Given the description of an element on the screen output the (x, y) to click on. 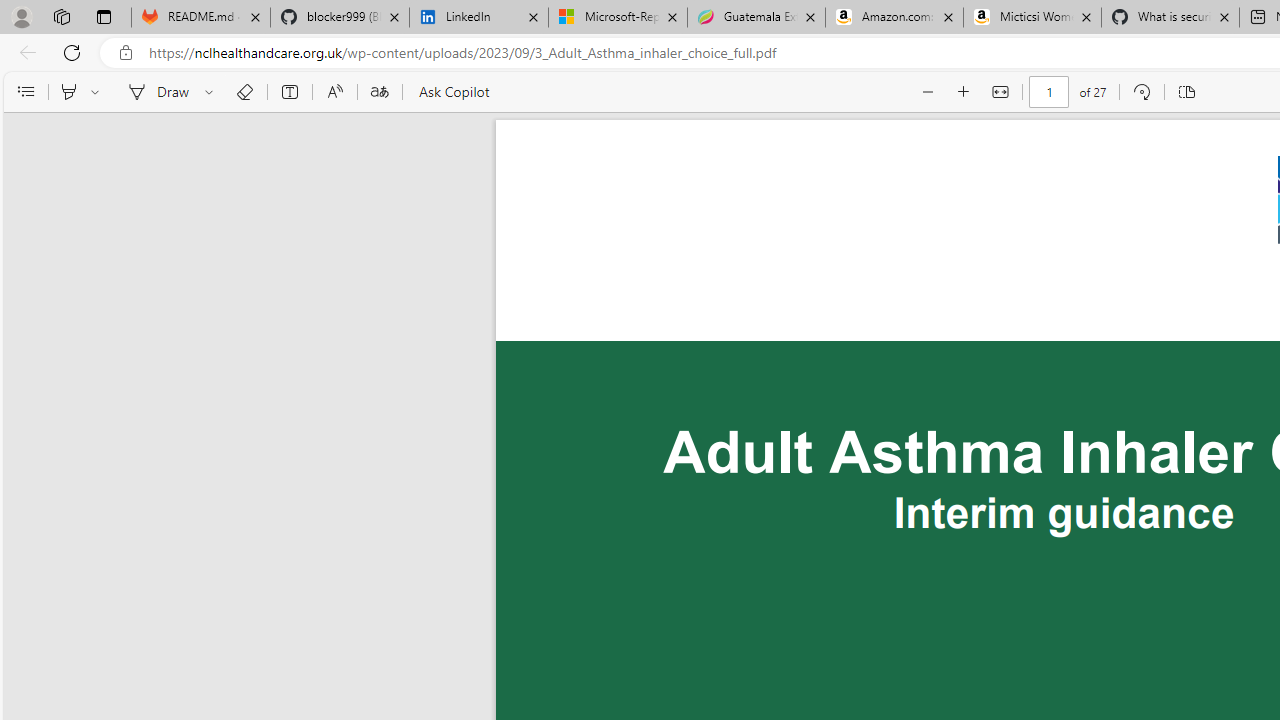
Erase (244, 92)
Fit to width (Ctrl+\) (999, 92)
Select a highlight color (98, 92)
Contents (25, 92)
Zoom in (Ctrl+Plus key) (964, 92)
Select ink properties (212, 92)
Highlight (68, 92)
Translate (379, 92)
Read aloud (334, 92)
Zoom out (Ctrl+Minus key) (928, 92)
Draw (155, 92)
